Given the description of an element on the screen output the (x, y) to click on. 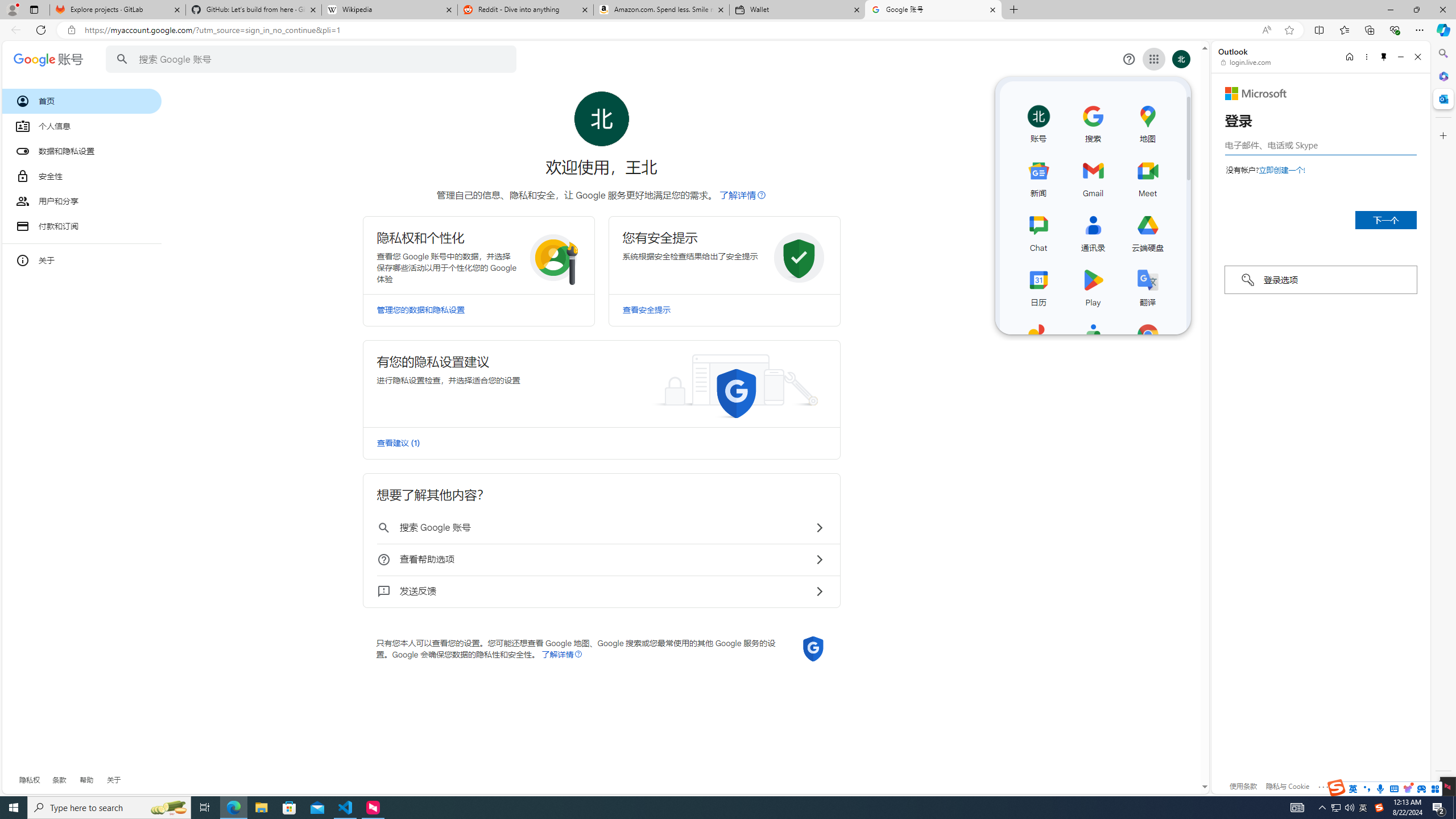
Class: RlFDUe N5YmOc kJXJmd bvW4md I6g62c (601, 383)
